Given the description of an element on the screen output the (x, y) to click on. 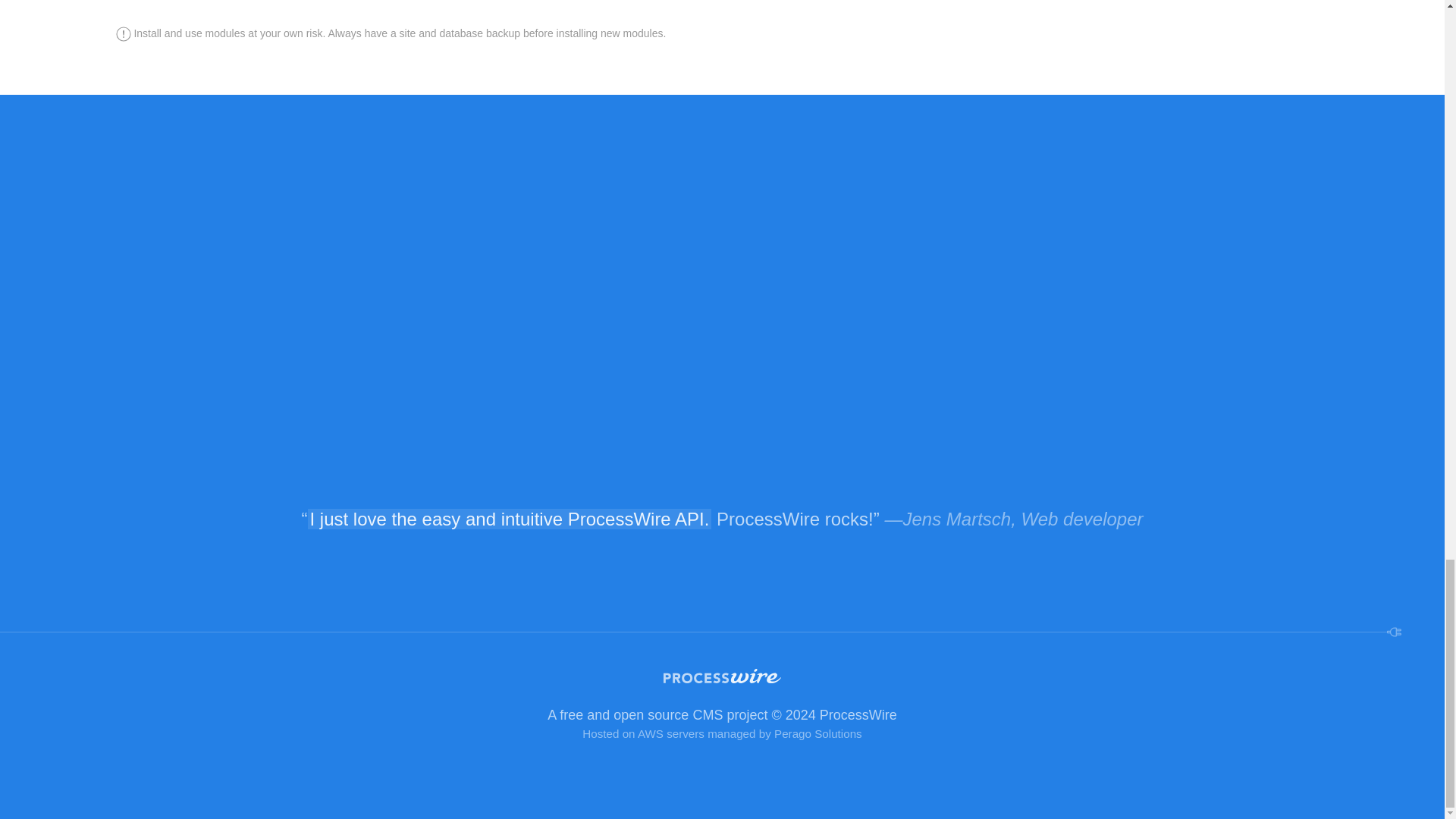
ProcessWire (721, 694)
